Given the description of an element on the screen output the (x, y) to click on. 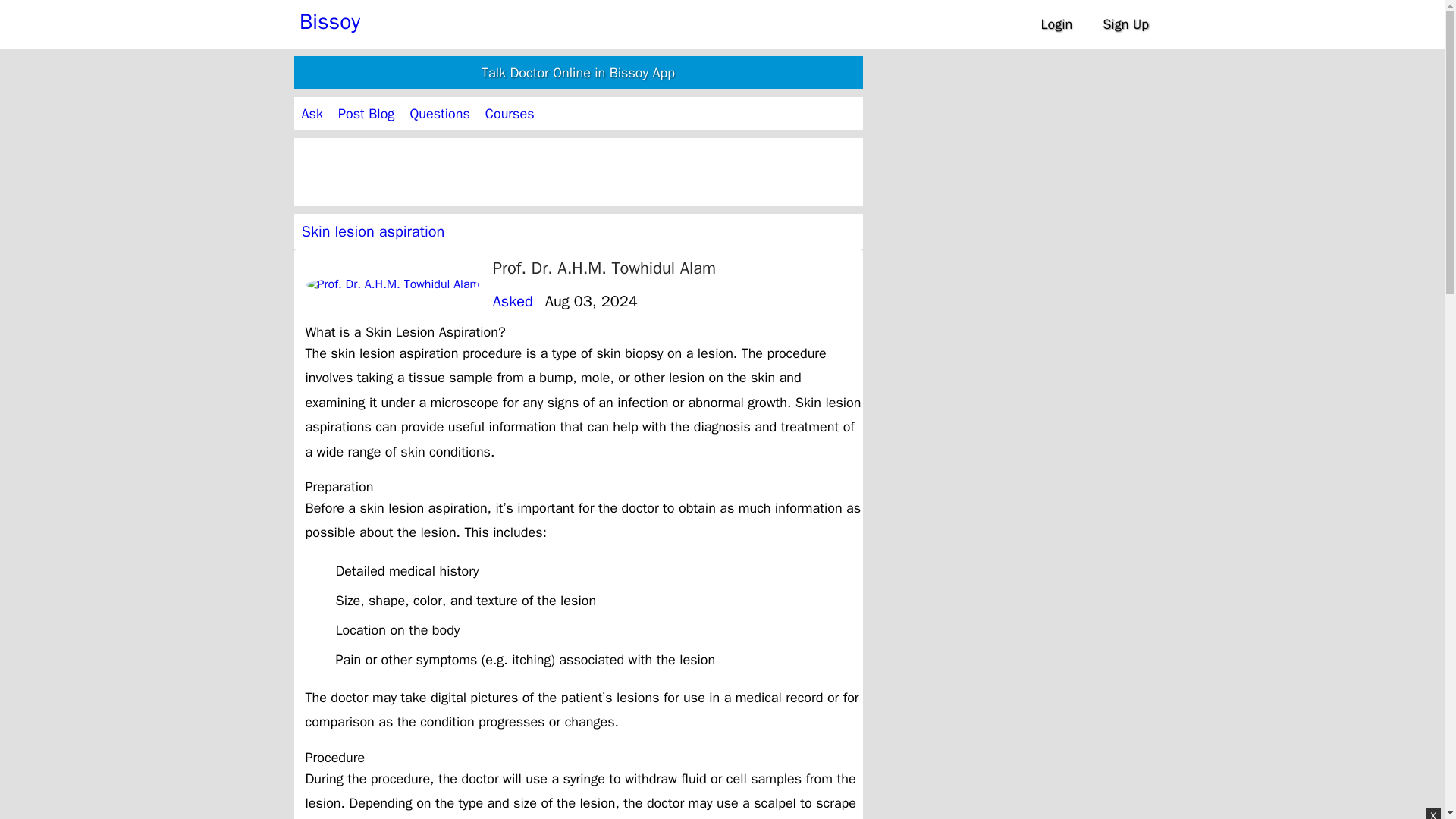
Post Blog (365, 113)
Login (1056, 23)
Prof. Dr. A.H.M. Towhidul Alam (603, 268)
Bissoy (329, 21)
Skin lesion aspiration (373, 230)
Courses (509, 113)
Aug 03, 2024 09:38:39 (590, 301)
Ask (312, 113)
Questions (438, 113)
Asked (512, 301)
